Given the description of an element on the screen output the (x, y) to click on. 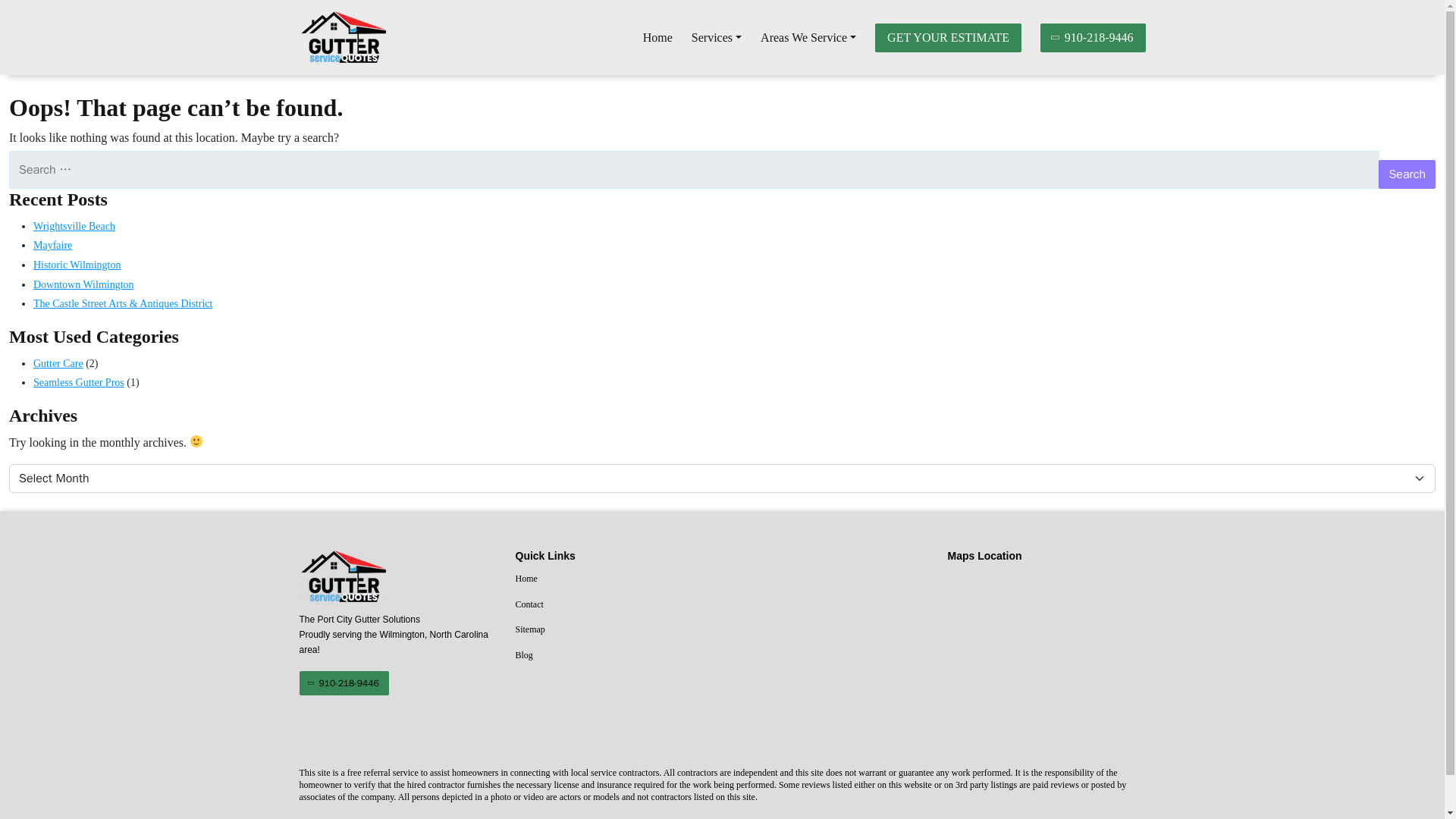
Downtown Wilmington (83, 284)
Seamless Gutter Pros (78, 382)
Home (614, 578)
Areas We Service (808, 38)
Mayfaire (52, 244)
Services (716, 38)
Historic Wilmington (76, 265)
Blog (614, 655)
Contact (614, 605)
Search (1406, 174)
